Given the description of an element on the screen output the (x, y) to click on. 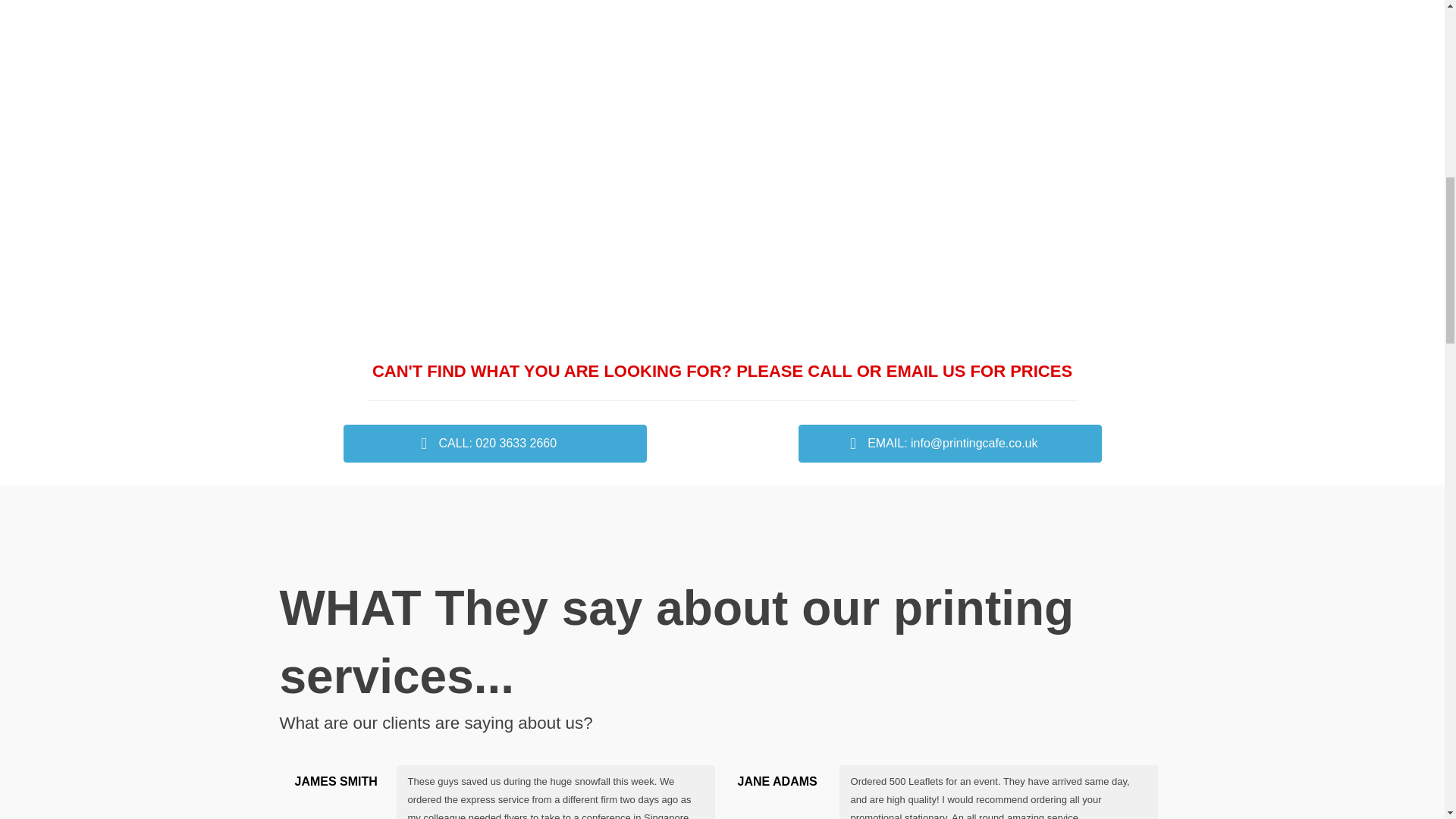
Sticker Printing (608, 234)
Postcard Printing (836, 234)
Clothing Printing (381, 234)
Booklets Printing pc (608, 54)
Business cards (836, 54)
letterheads Printing pc (381, 54)
